Given the description of an element on the screen output the (x, y) to click on. 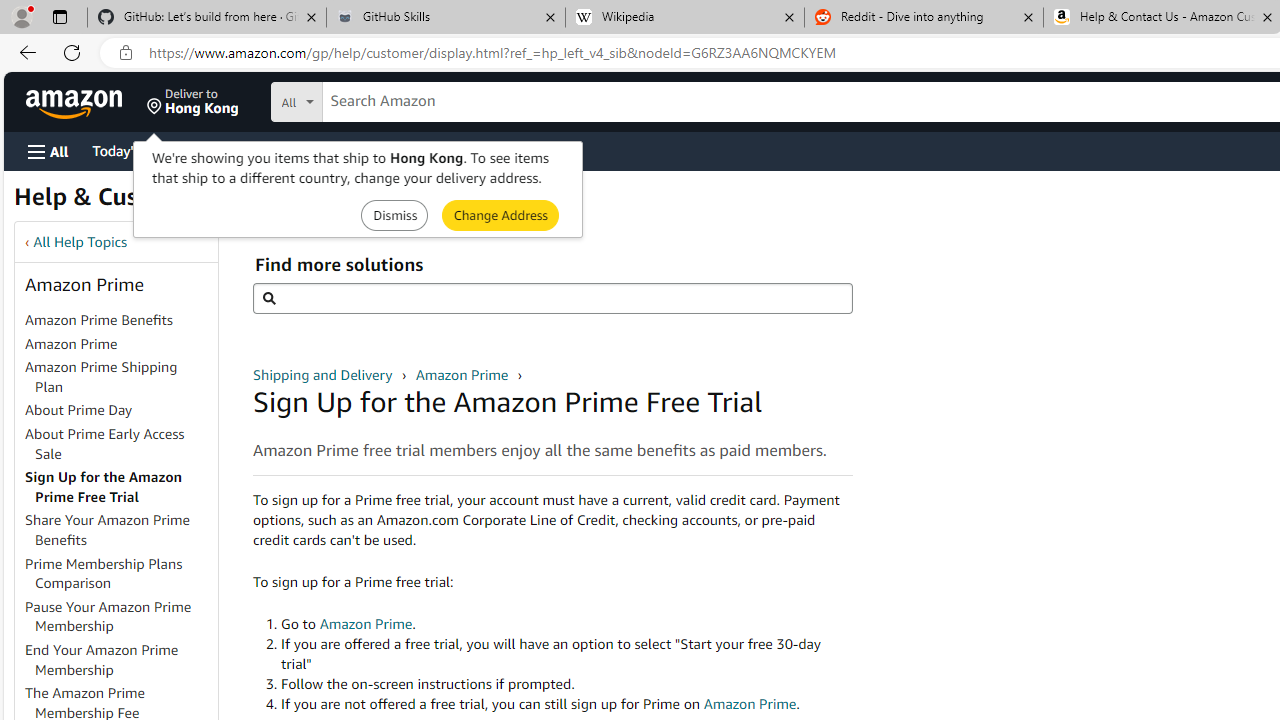
Wikipedia (684, 17)
Prime Membership Plans Comparison (120, 573)
Close tab (1267, 16)
Tab actions menu (59, 16)
Registry (360, 150)
Pause Your Amazon Prime Membership (108, 615)
About Prime Early Access Sale (120, 444)
Shipping and Delivery  (324, 374)
Amazon Prime Benefits (120, 321)
Amazon Prime (120, 344)
Share Your Amazon Prime Benefits (120, 530)
Go to Amazon Prime. (566, 624)
